Given the description of an element on the screen output the (x, y) to click on. 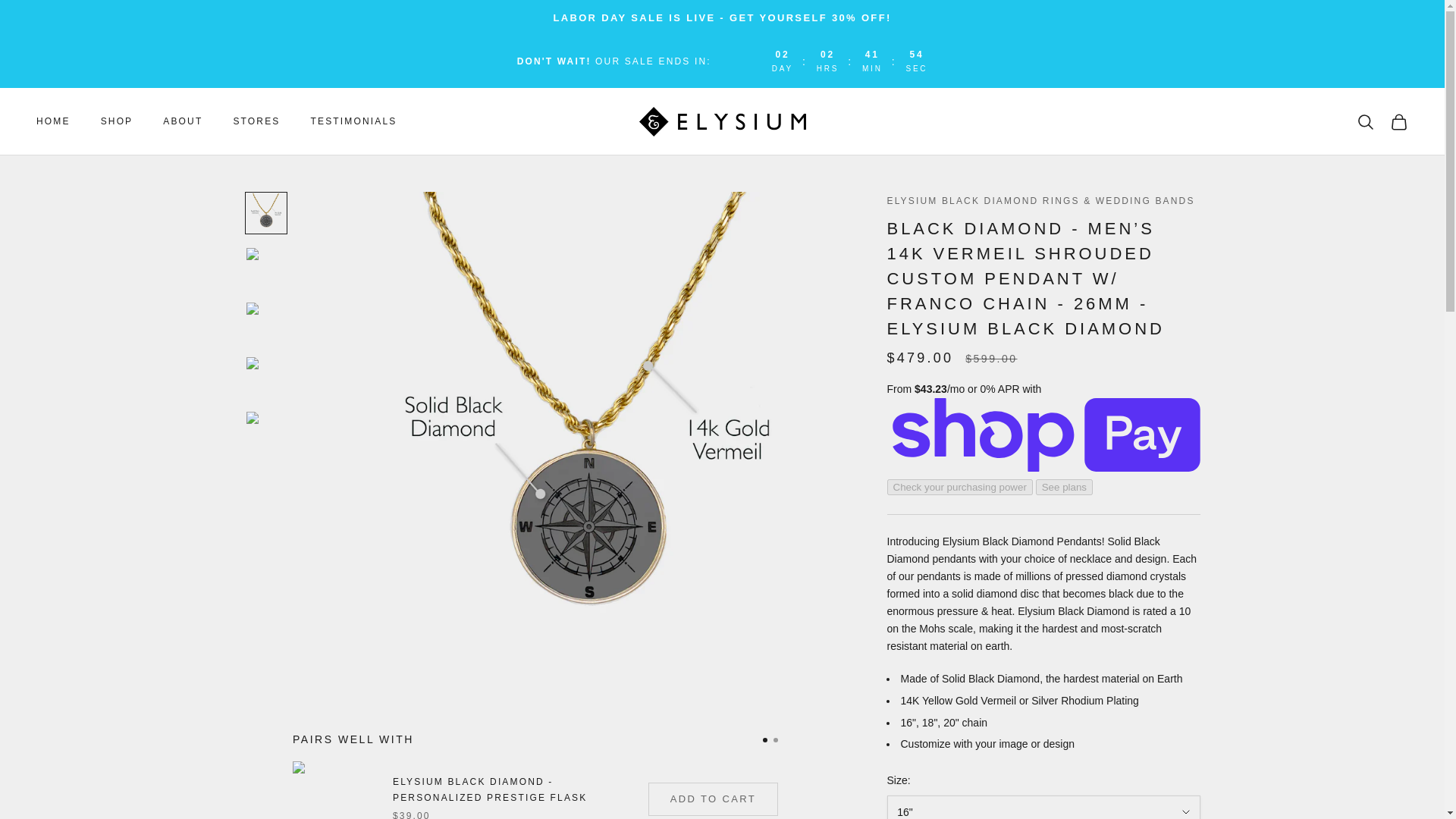
16" (1042, 807)
Open cart (1398, 122)
STORES (255, 120)
HOME (52, 120)
TESTIMONIALS (354, 120)
Open search (1365, 122)
